Given the description of an element on the screen output the (x, y) to click on. 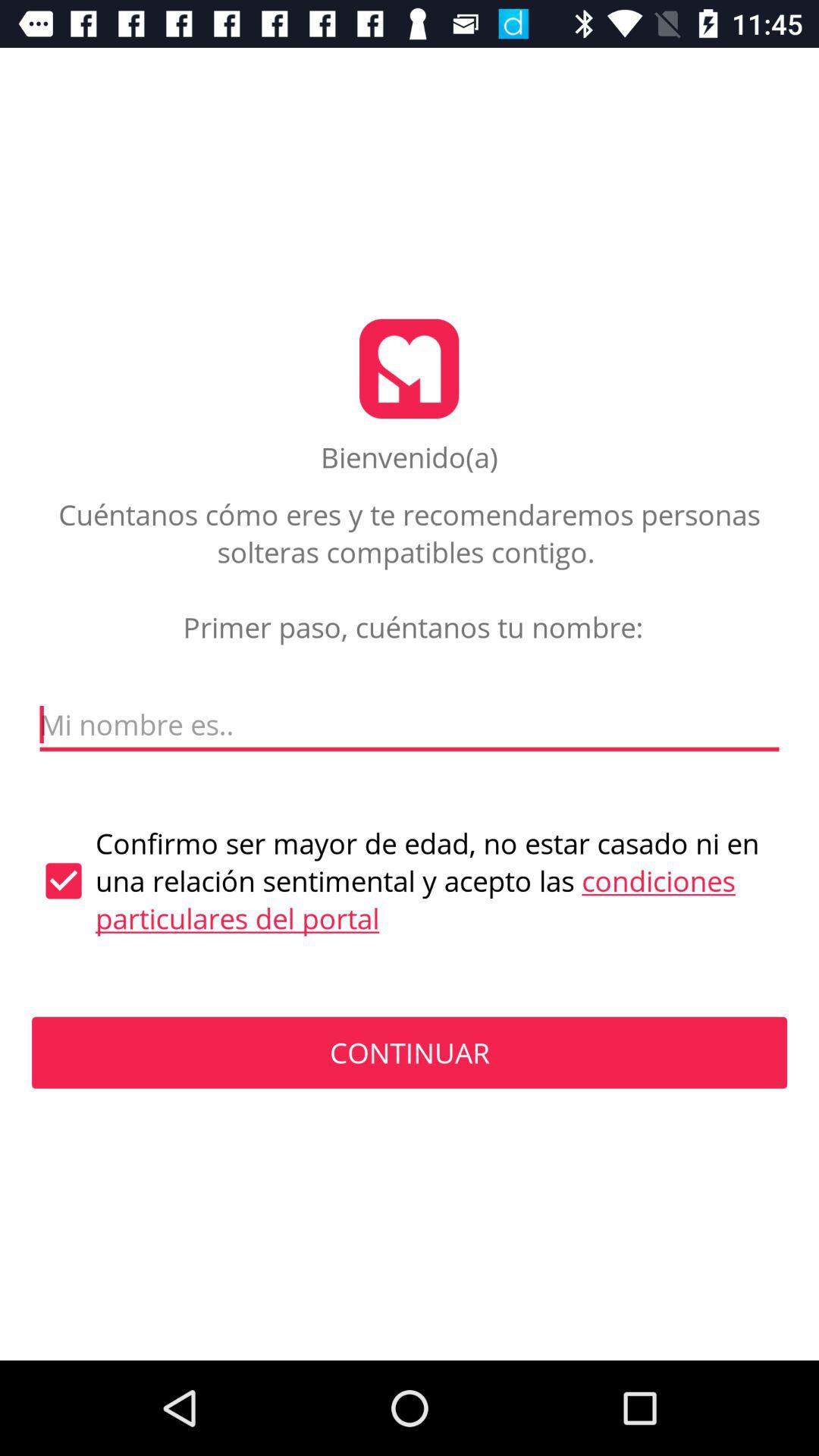
swipe to the confirmo ser mayor item (409, 880)
